Given the description of an element on the screen output the (x, y) to click on. 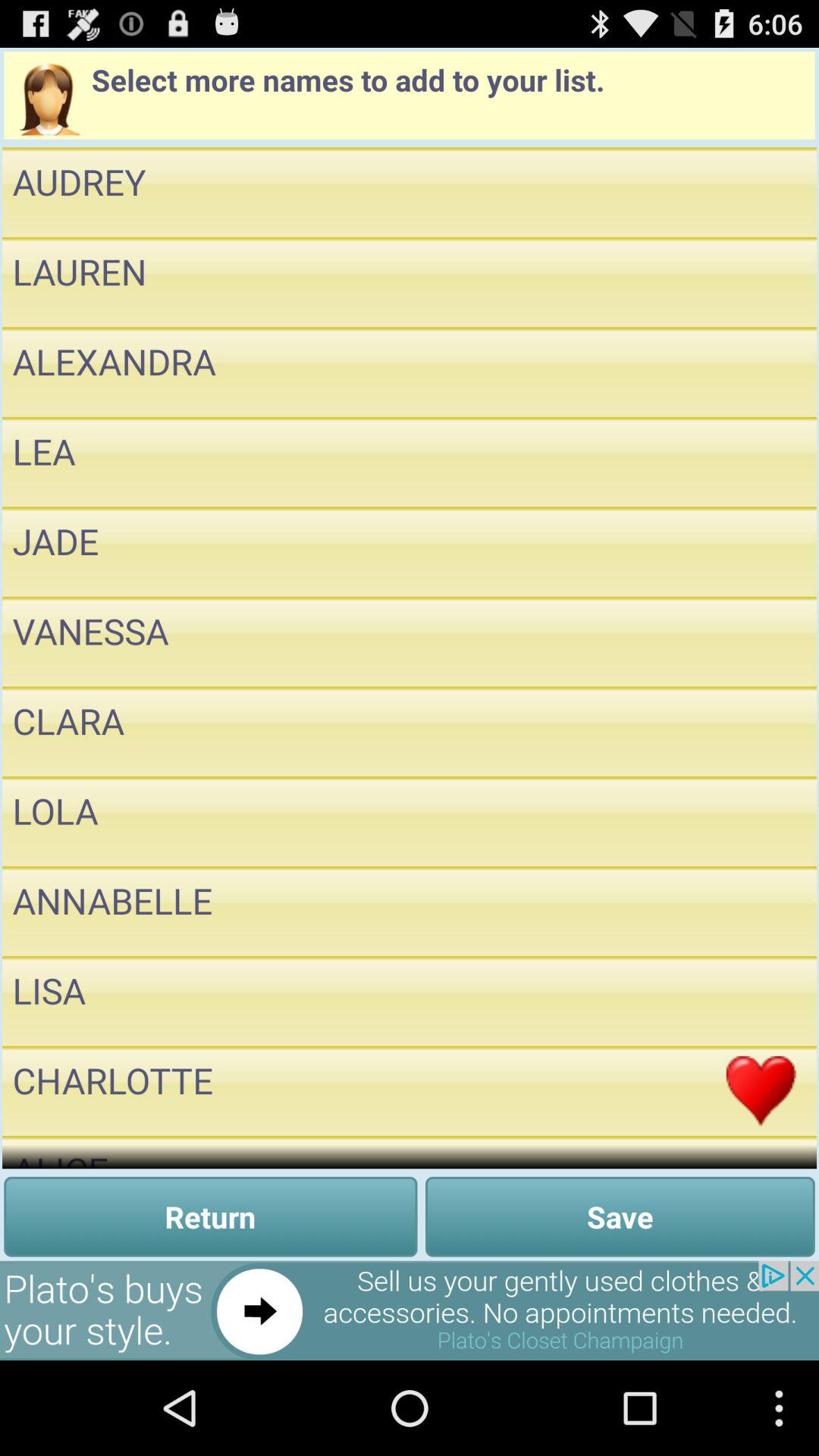
add to favorites (761, 551)
